Given the description of an element on the screen output the (x, y) to click on. 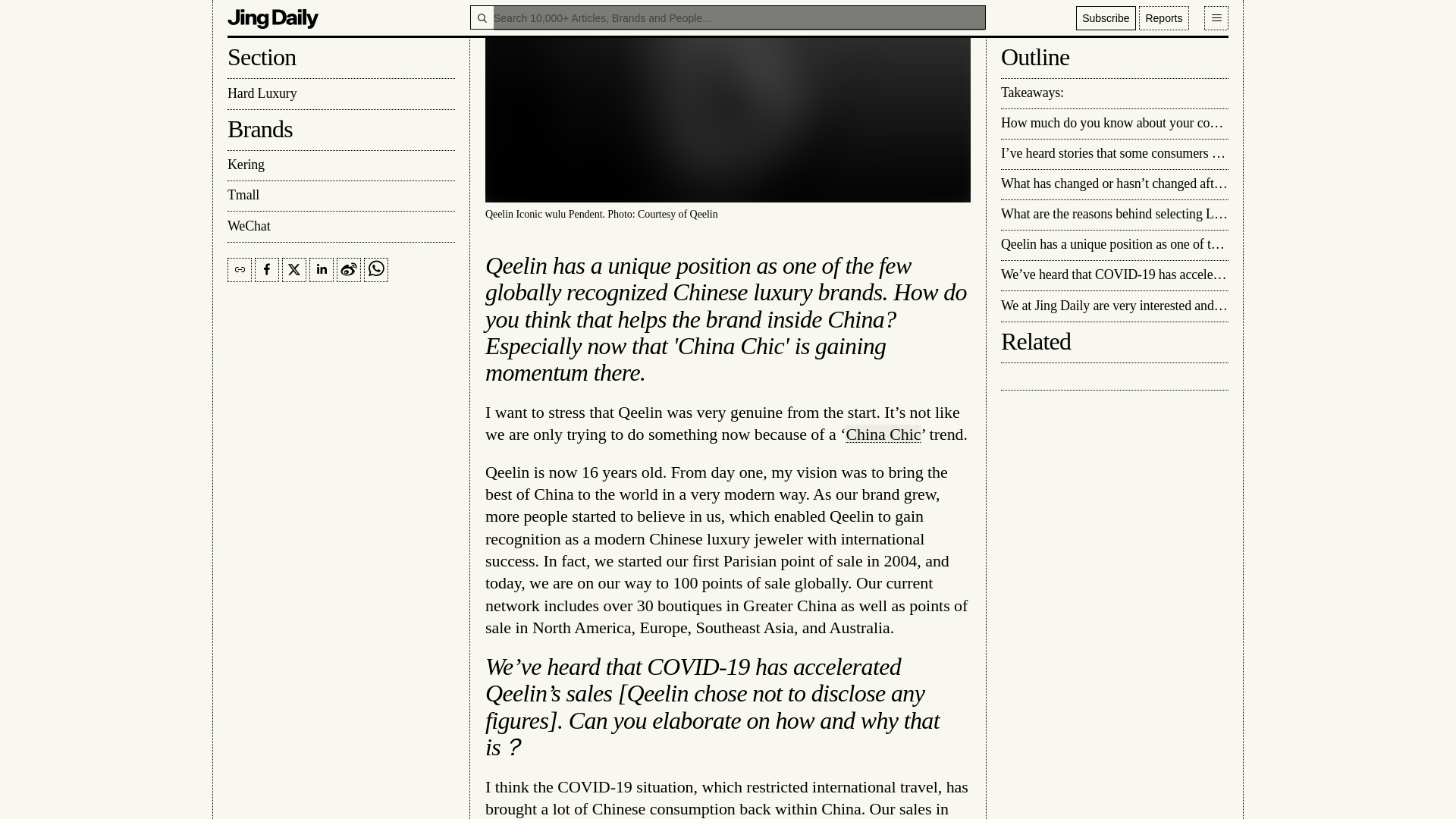
China Chic (882, 434)
